Given the description of an element on the screen output the (x, y) to click on. 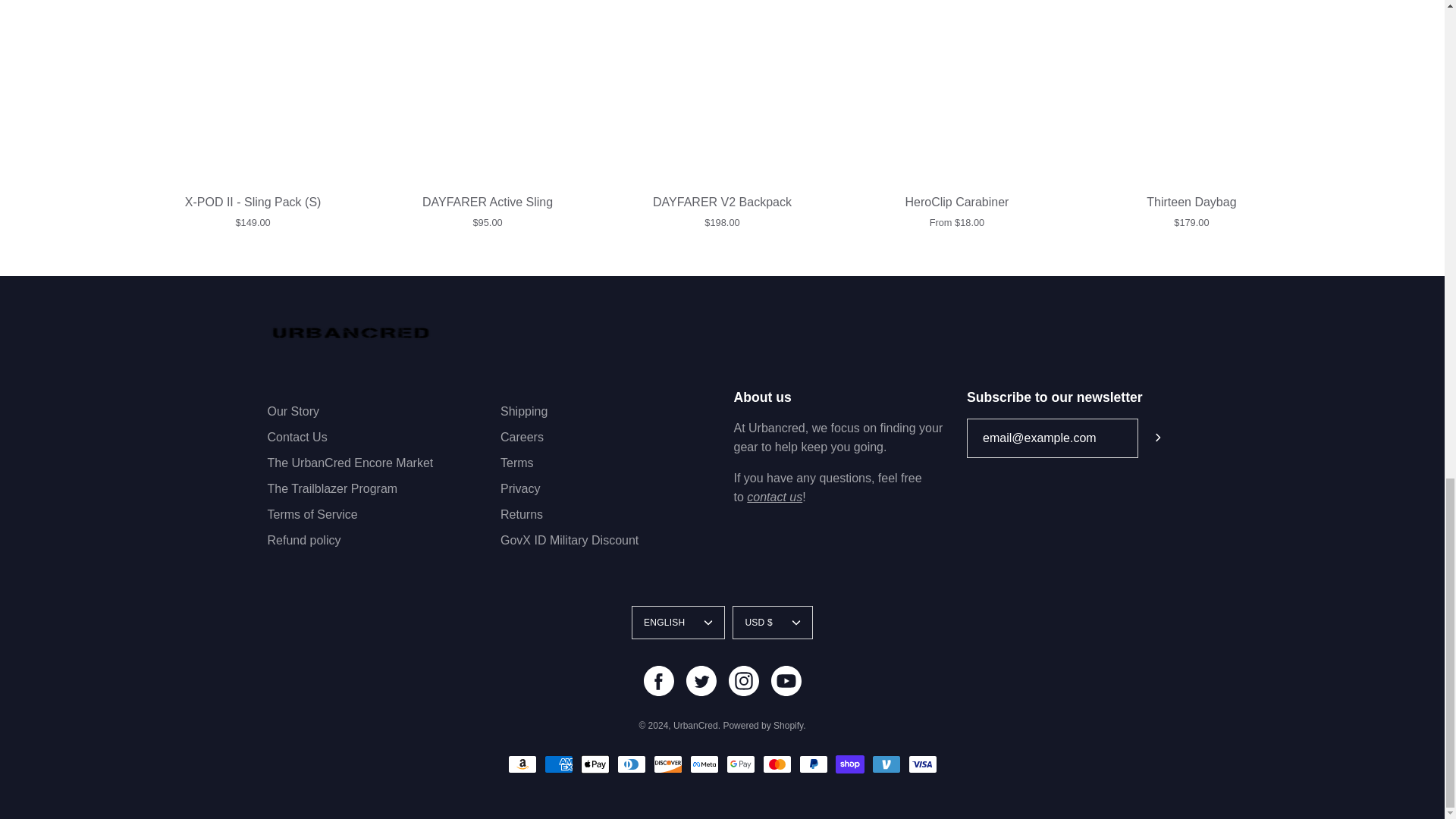
View UrbanCred on Facebook (657, 680)
Contact (774, 496)
View UrbanCred on Youtube (785, 680)
View UrbanCred on Twitter (700, 680)
View UrbanCred on Instagram (743, 680)
